Given the description of an element on the screen output the (x, y) to click on. 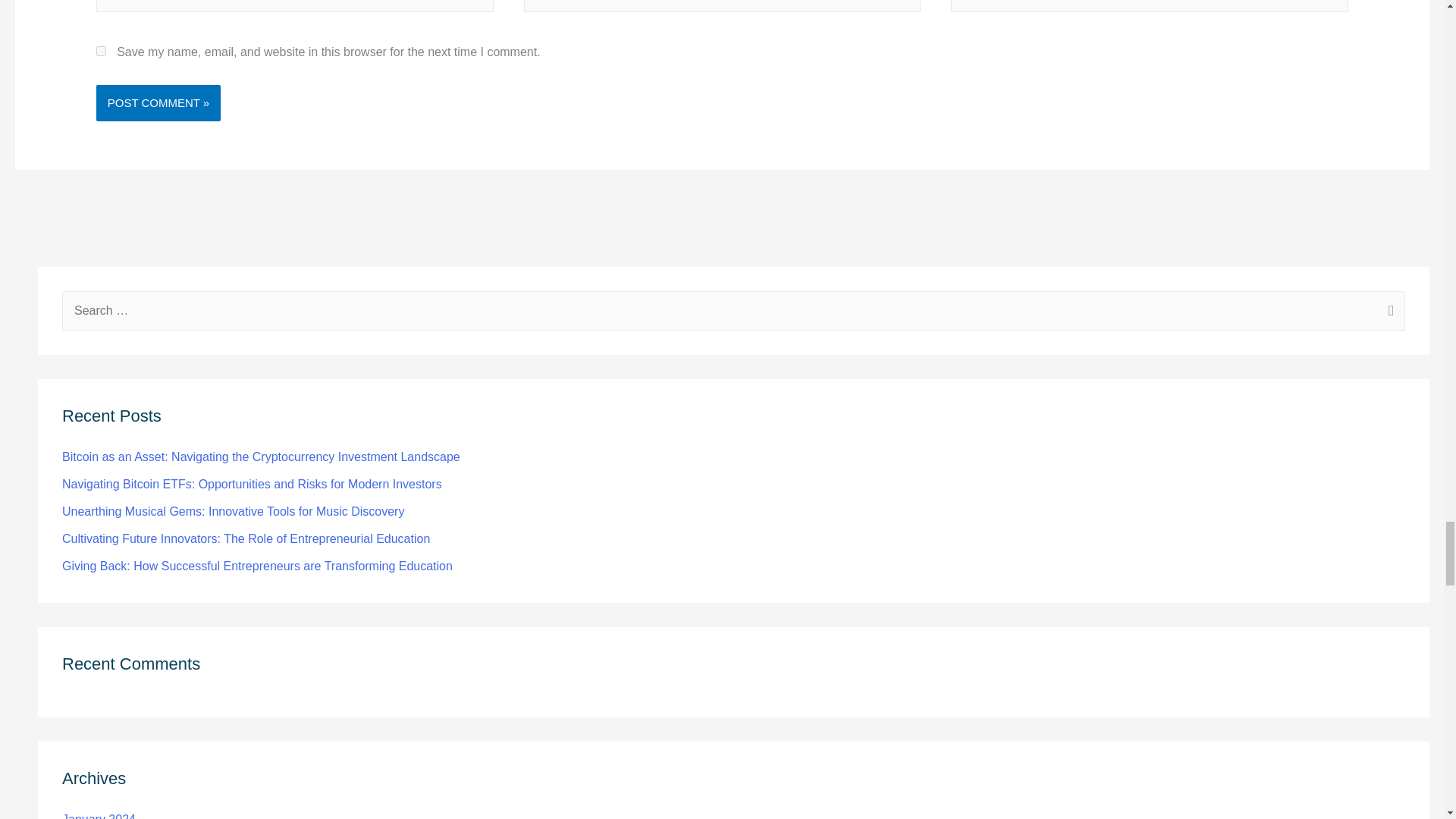
yes (101, 50)
